Given the description of an element on the screen output the (x, y) to click on. 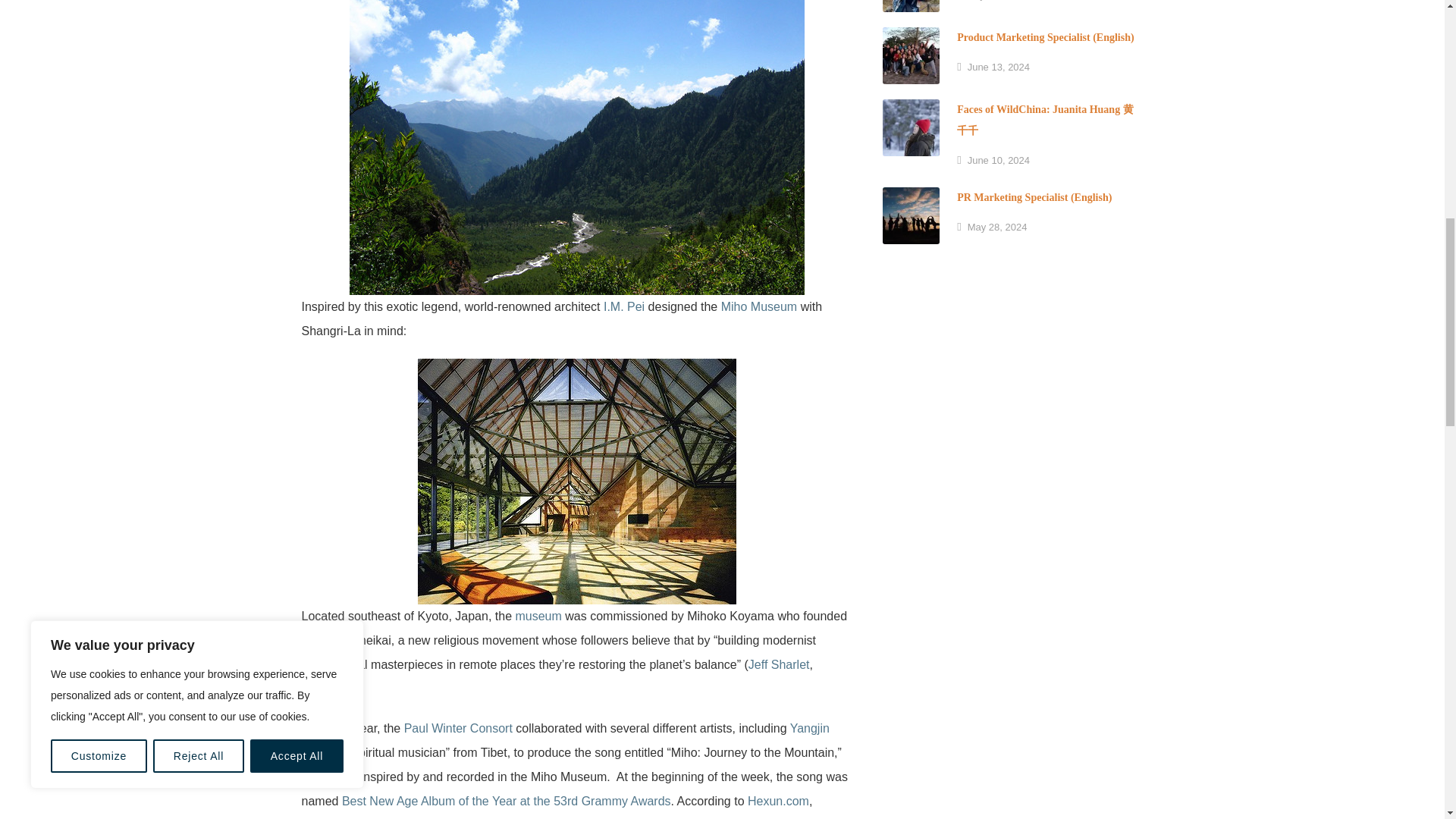
Juanita Huang Cover Image (910, 127)
7d2350e6-4a49-4fe5-9efb-1f2831e51be4 (910, 6)
Miho-Museum-420x0 (576, 481)
